Given the description of an element on the screen output the (x, y) to click on. 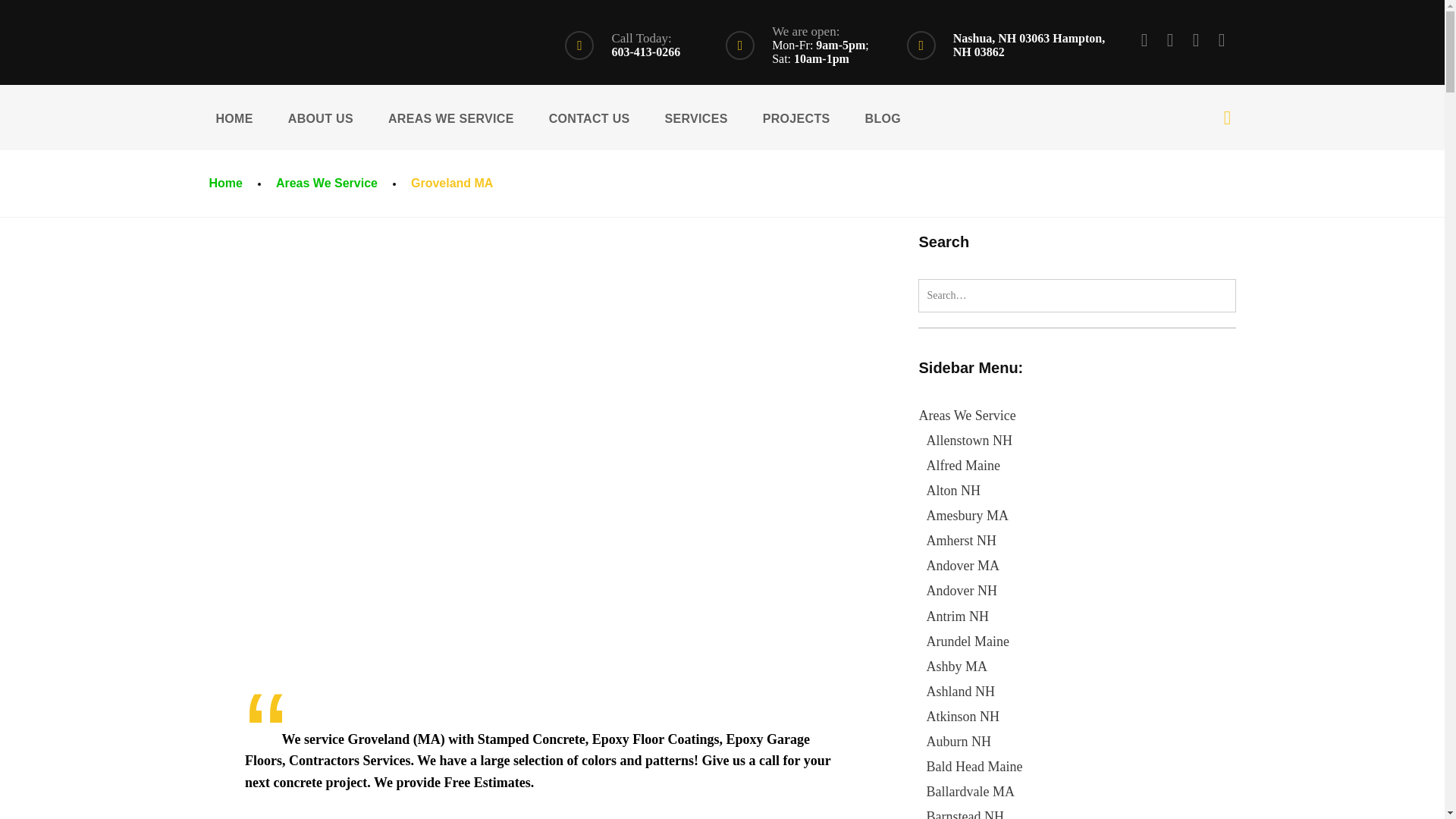
Areas We Service (326, 182)
Barnstead NH (964, 814)
ABOUT US (320, 117)
Ashland NH (960, 691)
Arundel Maine (967, 641)
Home (224, 182)
Home (224, 182)
Areas We Service (966, 415)
Andover MA (962, 565)
Atkinson NH (962, 716)
Andover NH (960, 590)
Alton NH (952, 490)
Ballardvale MA (969, 791)
Auburn NH (958, 741)
Ashby MA (956, 666)
